Given the description of an element on the screen output the (x, y) to click on. 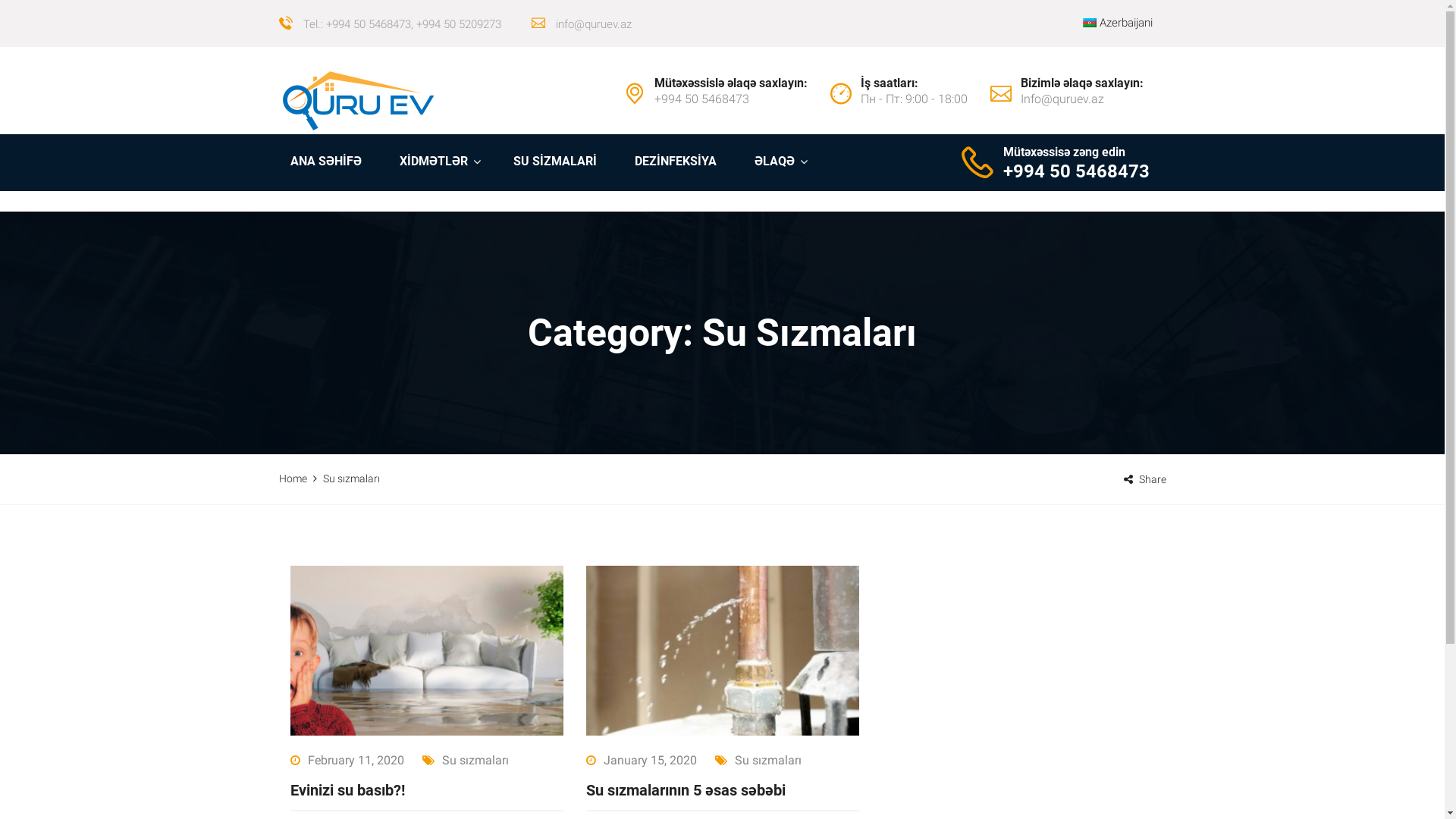
Azerbaijani Element type: text (1117, 22)
Home Element type: text (293, 478)
January 15, 2020 Element type: text (640, 760)
 Azerbaijani Element type: hover (1089, 22)
February 11, 2020 Element type: text (346, 760)
